Given the description of an element on the screen output the (x, y) to click on. 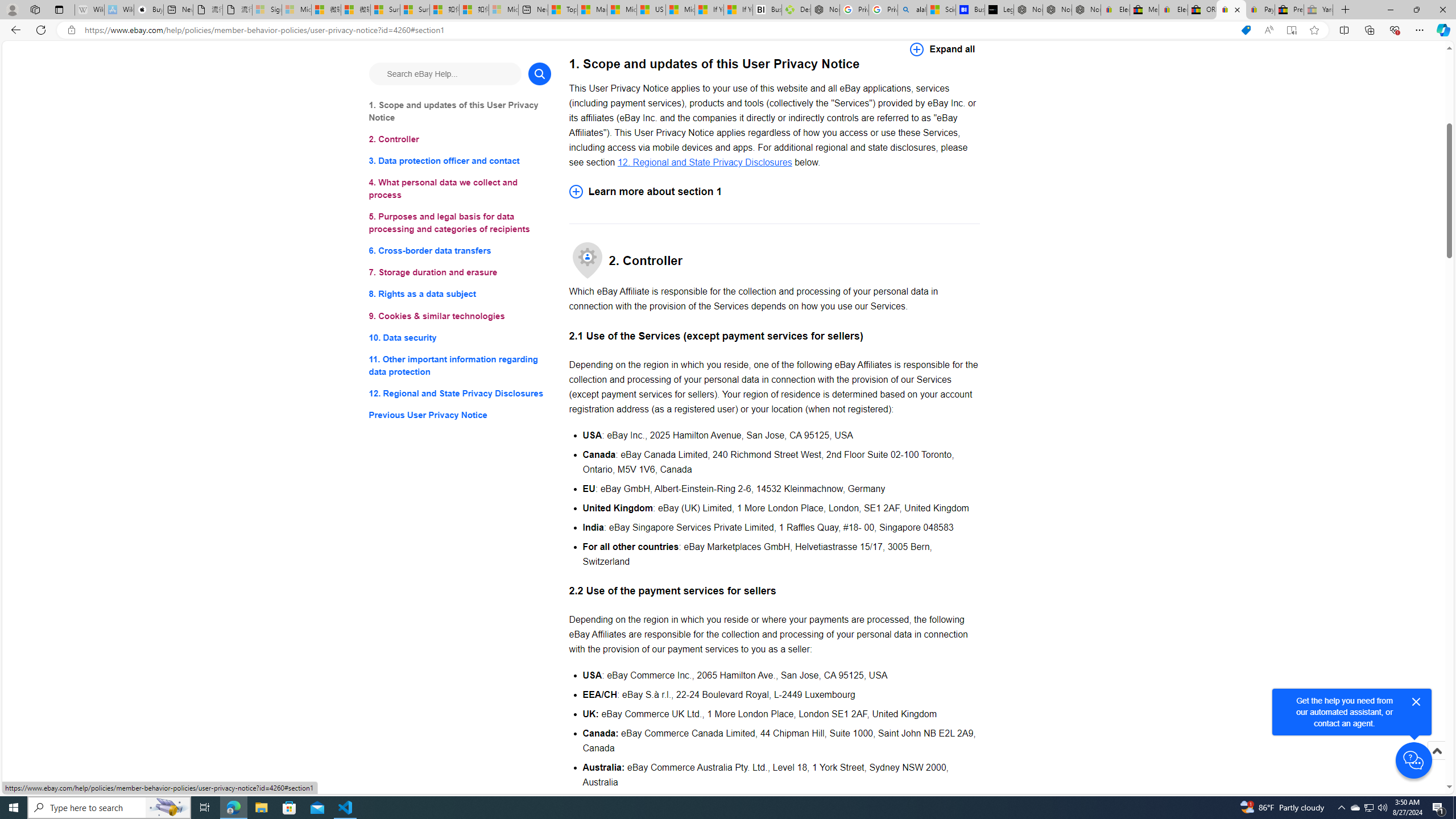
Nordace - My Account (825, 9)
1. Scope and updates of this User Privacy Notice (459, 111)
Press Room - eBay Inc. (1288, 9)
Previous User Privacy Notice (459, 414)
7. Storage duration and erasure (459, 272)
1. Scope and updates of this User Privacy Notice (459, 111)
4. What personal data we collect and process (459, 189)
Yard, Garden & Outdoor Living - Sleeping (1318, 9)
alabama high school quarterback dies - Search (911, 9)
